Given the description of an element on the screen output the (x, y) to click on. 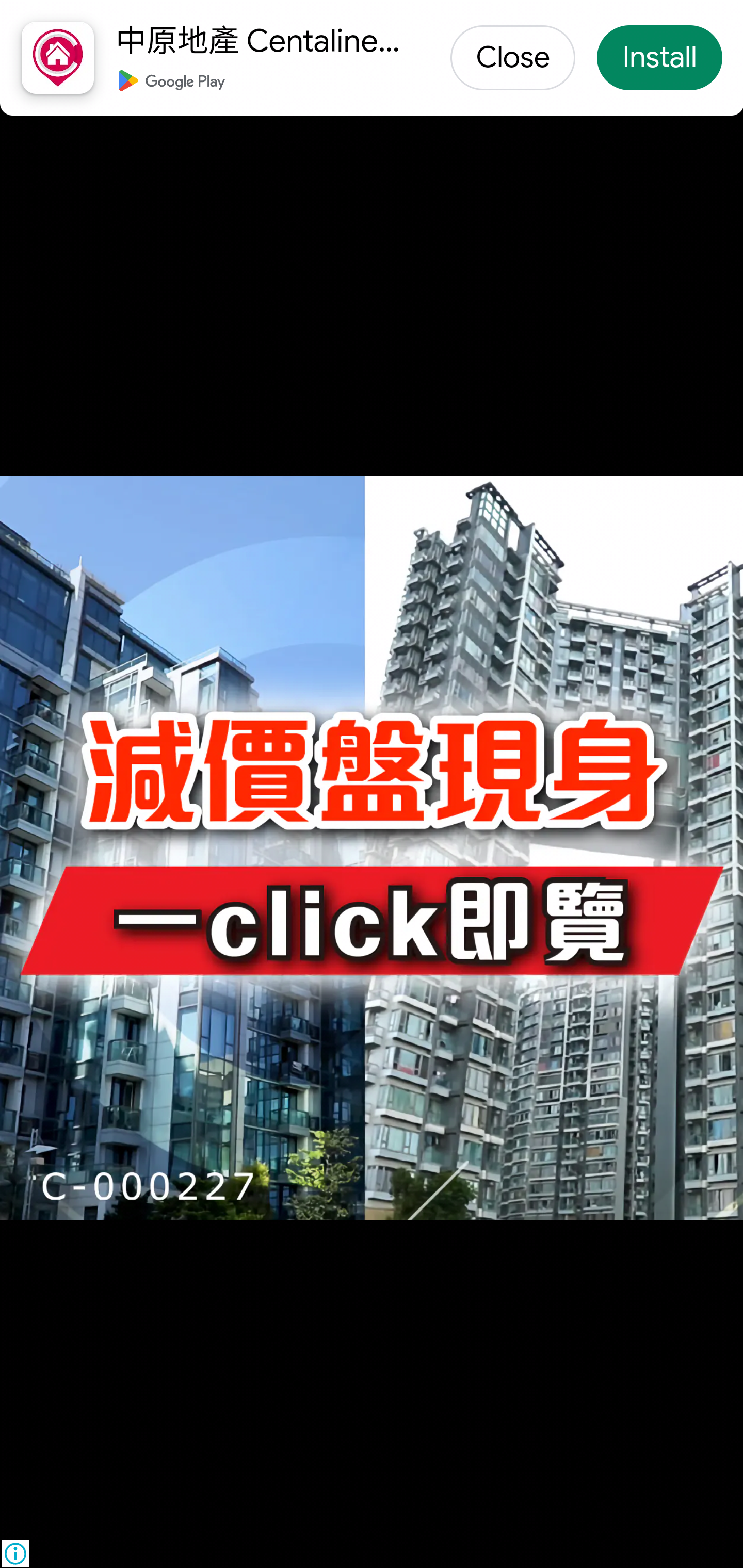
Close (512, 58)
Install (659, 58)
